Given the description of an element on the screen output the (x, y) to click on. 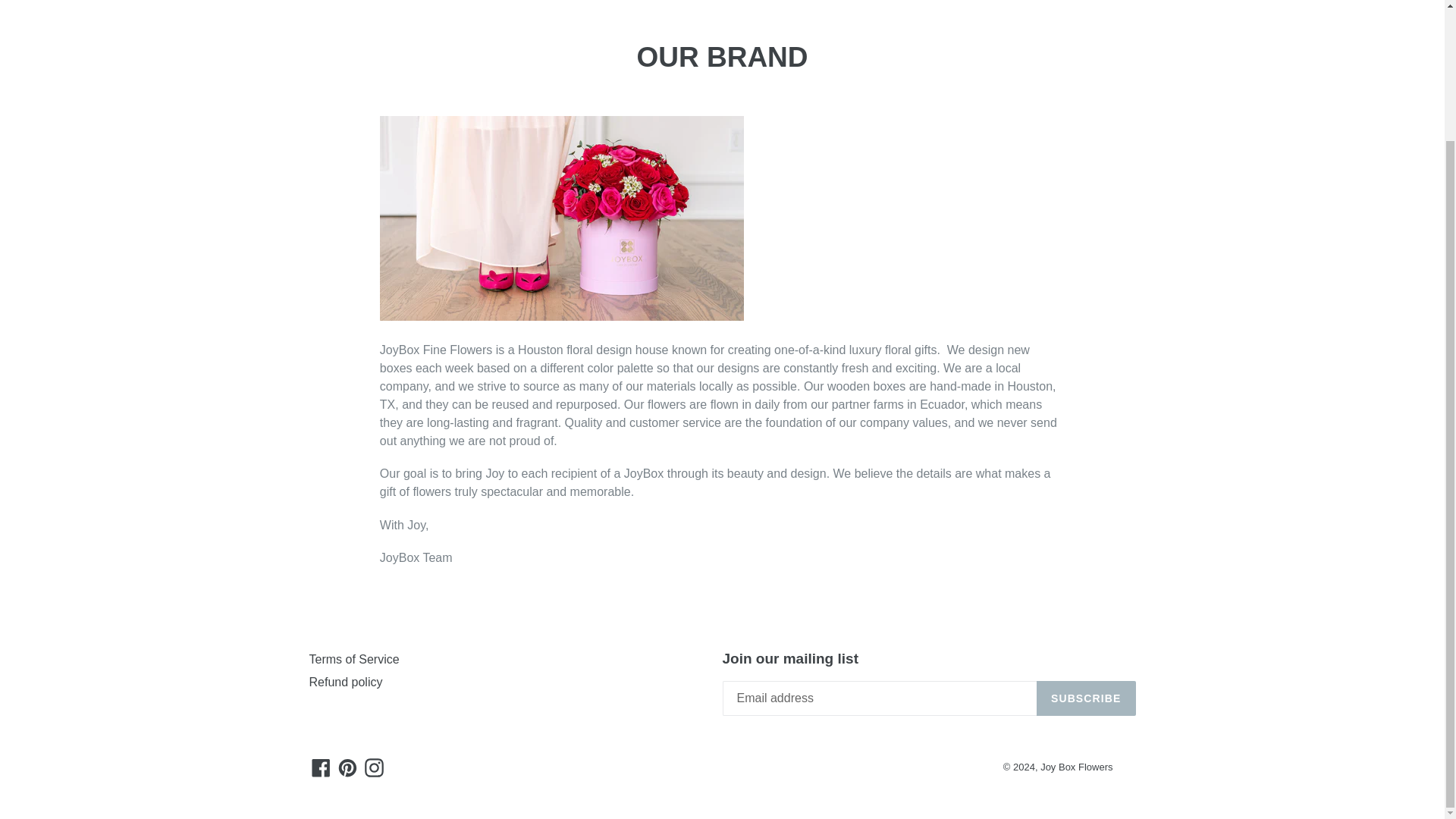
Refund policy (345, 681)
Terms of Service (353, 658)
